Given the description of an element on the screen output the (x, y) to click on. 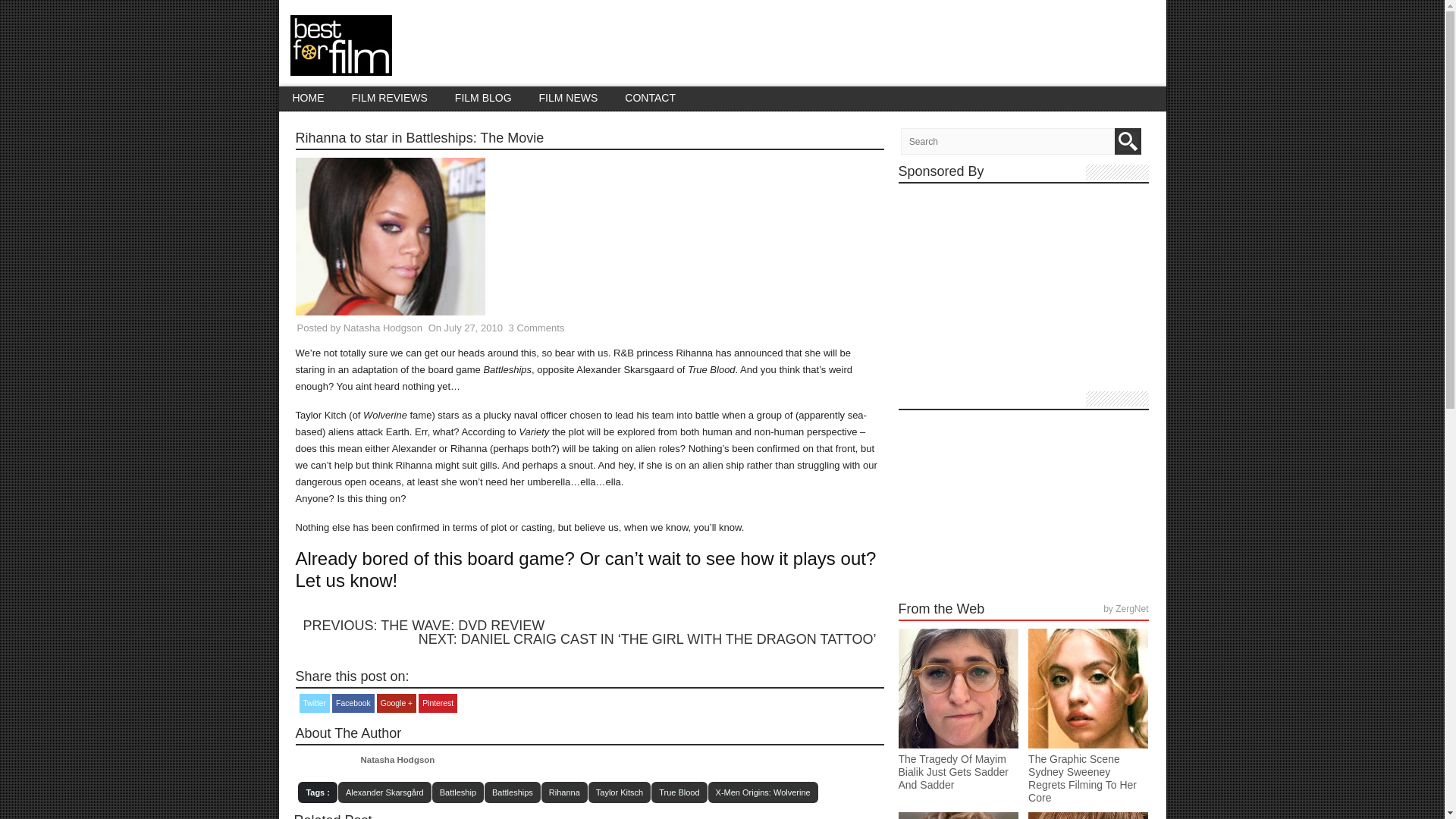
Share on Facebook! (352, 702)
CONTACT (649, 97)
PREVIOUS: THE WAVE: DVD REVIEW (423, 625)
HOME (308, 97)
Battleship (457, 792)
True Blood (678, 792)
X-Men Origins: Wolverine (762, 792)
Posts by Natasha Hodgson (382, 327)
Share on Pinterest! (438, 702)
Advertisement (1023, 289)
FILM BLOG (483, 97)
FILM NEWS (568, 97)
Facebook (352, 702)
Search (1128, 140)
Natasha Hodgson (382, 327)
